Given the description of an element on the screen output the (x, y) to click on. 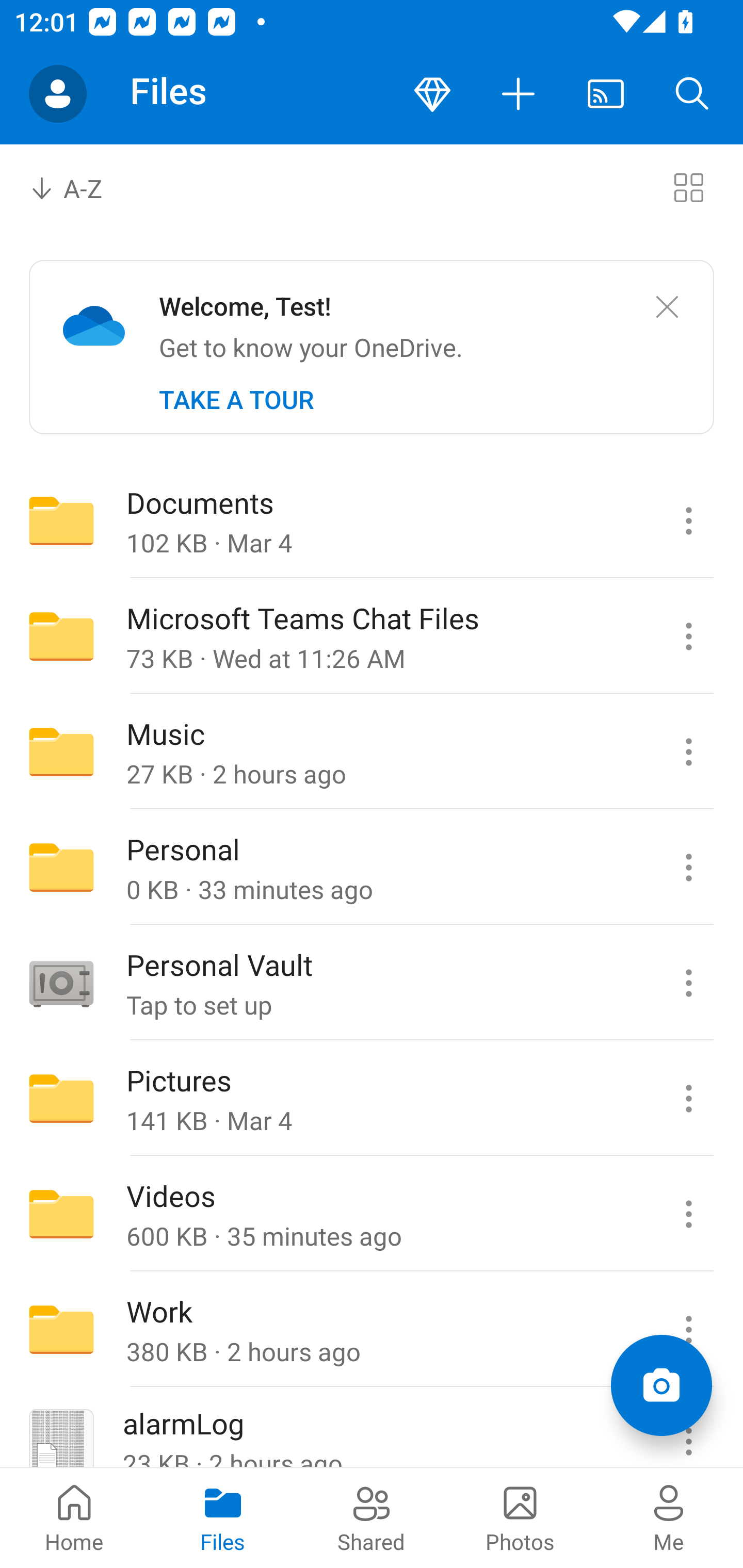
Account switcher (57, 93)
Cast. Disconnected (605, 93)
Premium button (432, 93)
More actions button (518, 93)
Search button (692, 93)
A-Z Sort by combo box, sort by name, A to Z (80, 187)
Switch to tiles view (688, 187)
Close (667, 307)
TAKE A TOUR (236, 399)
Folder Documents 102 KB · Mar 4 Documents commands (371, 520)
Documents commands (688, 520)
Microsoft Teams Chat Files commands (688, 636)
Folder Music 27 KB · 2 hours ago Music commands (371, 751)
Music commands (688, 751)
Personal commands (688, 867)
Personal Vault commands (688, 983)
Folder Pictures 141 KB · Mar 4 Pictures commands (371, 1099)
Pictures commands (688, 1099)
Videos commands (688, 1214)
Folder Work 380 KB · 2 hours ago Work commands (371, 1329)
Work commands (688, 1329)
Add items Scan (660, 1385)
alarmLog commands (688, 1427)
Home pivot Home (74, 1517)
Shared pivot Shared (371, 1517)
Photos pivot Photos (519, 1517)
Me pivot Me (668, 1517)
